Given the description of an element on the screen output the (x, y) to click on. 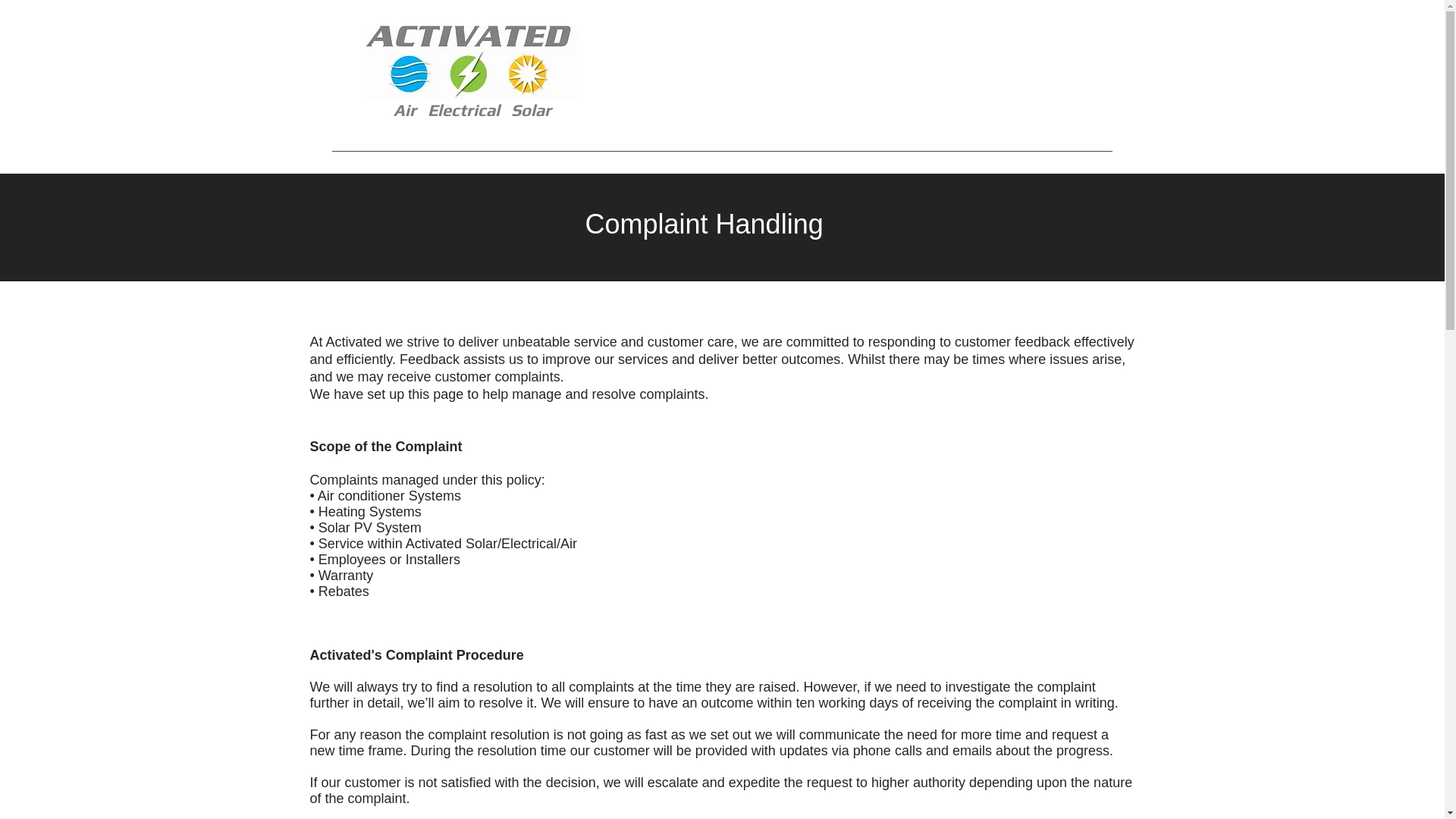
Call Now Element type: text (1019, 75)
